Given the description of an element on the screen output the (x, y) to click on. 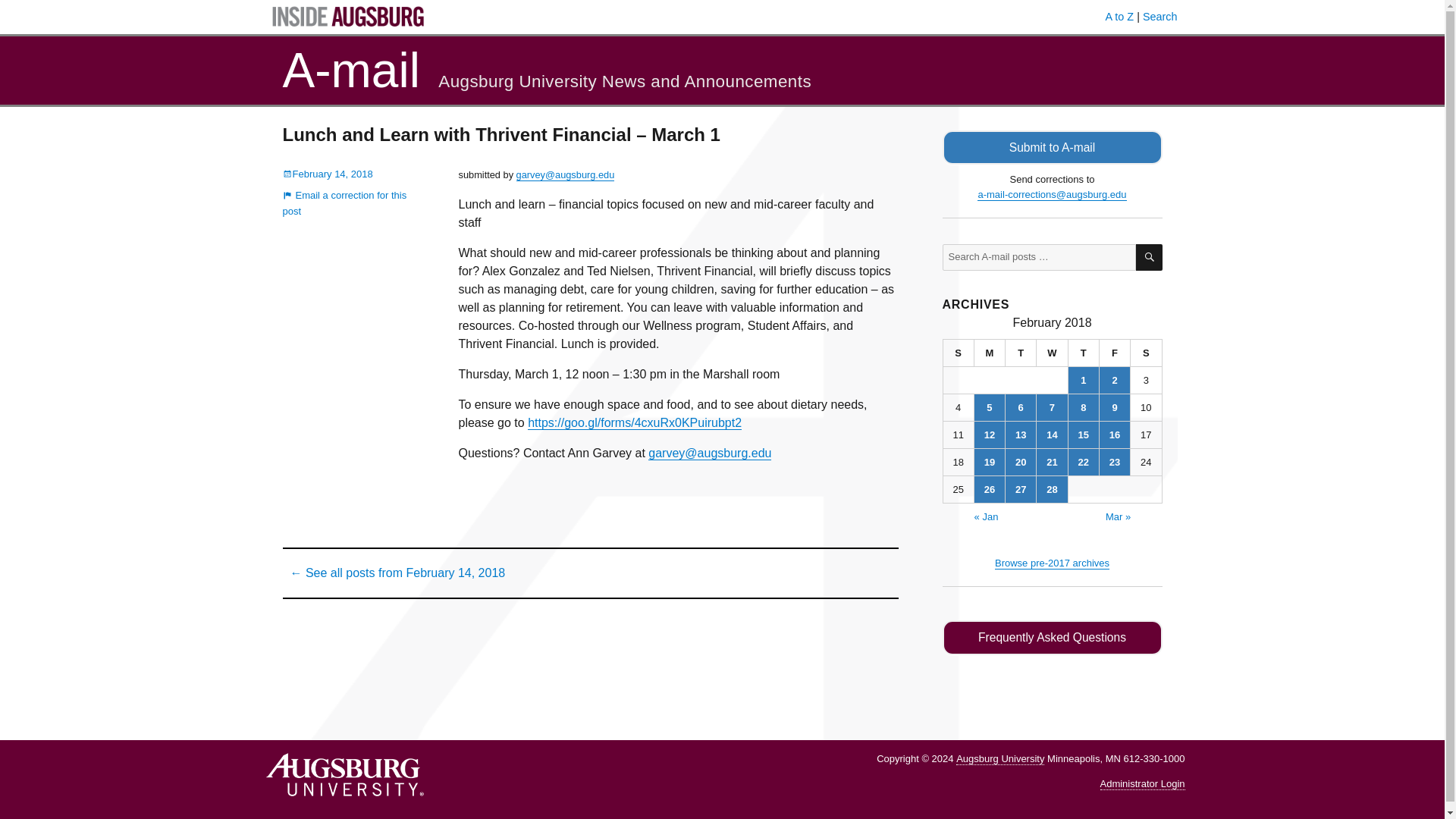
22 (1083, 461)
Tuesday (1021, 352)
8 (1083, 406)
Saturday (1146, 352)
Thursday (1083, 352)
16 (1114, 434)
7 (1051, 406)
1 (1083, 379)
Monday (990, 352)
20 (1020, 461)
19 (989, 461)
Friday (1115, 352)
13 (1020, 434)
14 (1051, 434)
Wednesday (1051, 352)
